Given the description of an element on the screen output the (x, y) to click on. 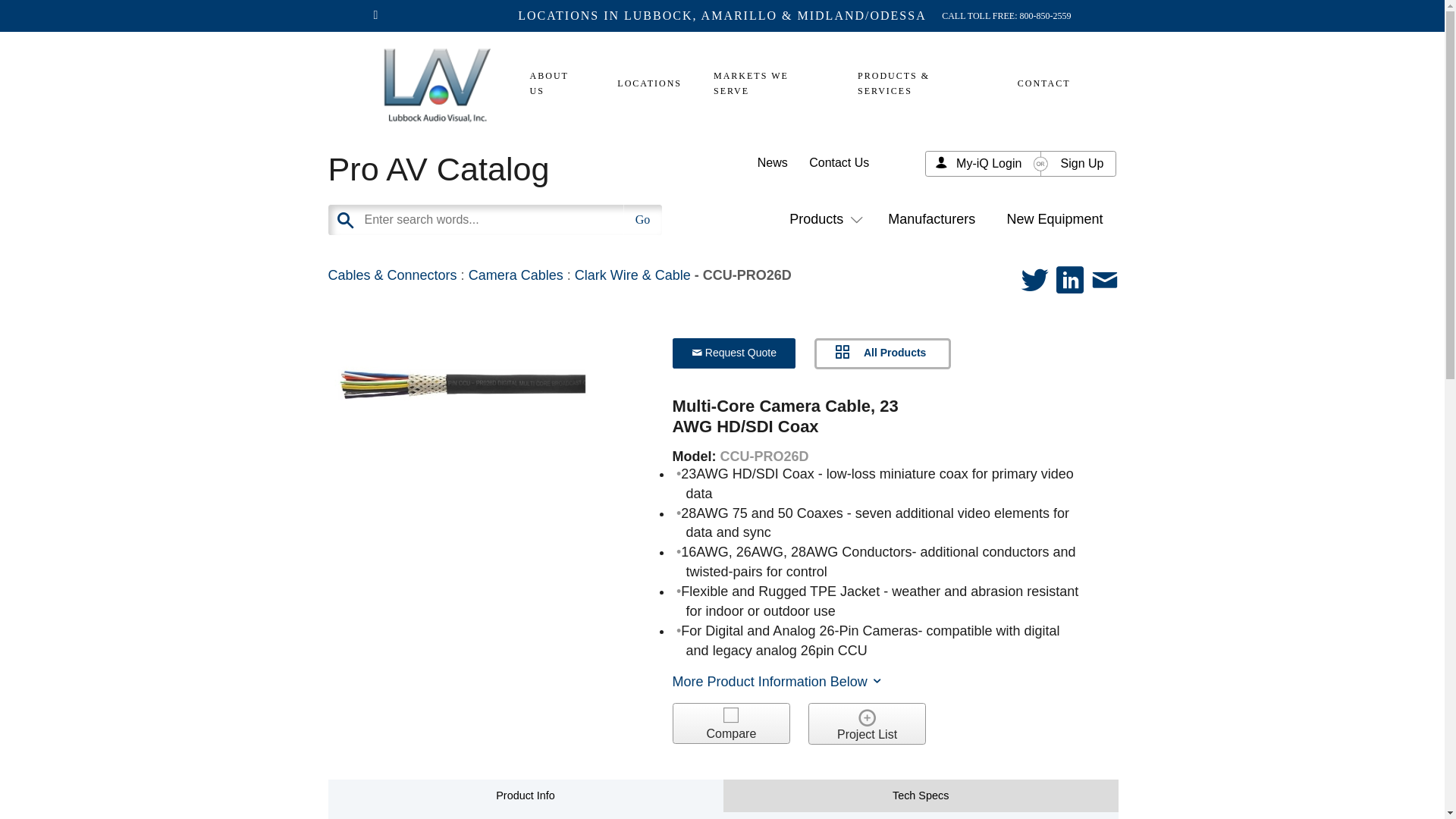
Go (642, 219)
Enter search words... (531, 219)
CONTACT (1036, 83)
LOCATIONS (649, 83)
CALL TOLL FREE: 800-850-2559 (1006, 15)
ABOUT US (558, 82)
Go (642, 219)
MARKETS WE SERVE (769, 82)
